Given the description of an element on the screen output the (x, y) to click on. 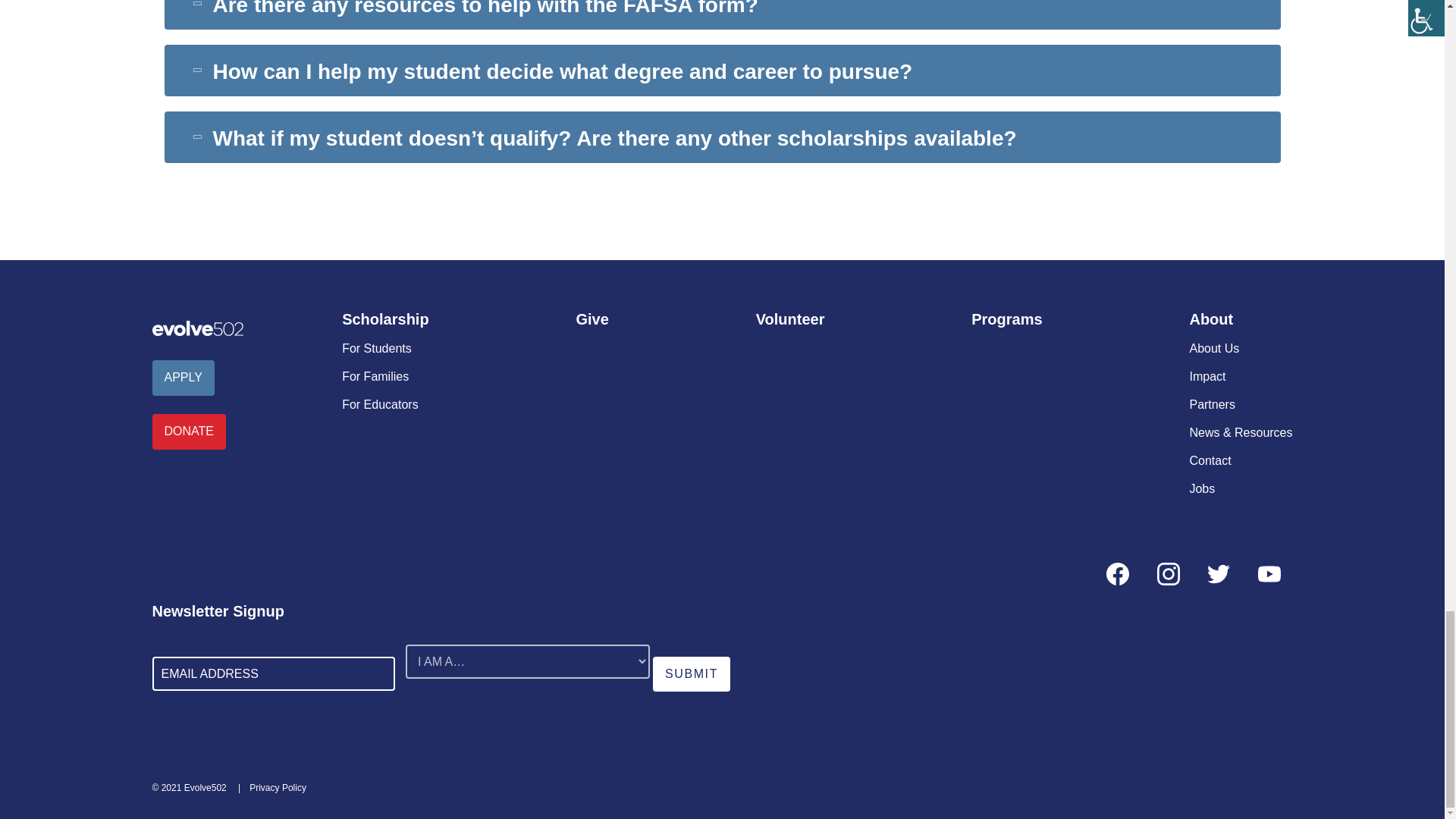
Submit (691, 673)
Instagram (1168, 573)
Twitter (1218, 573)
Facebook (1117, 573)
YouTube (1268, 573)
